Given the description of an element on the screen output the (x, y) to click on. 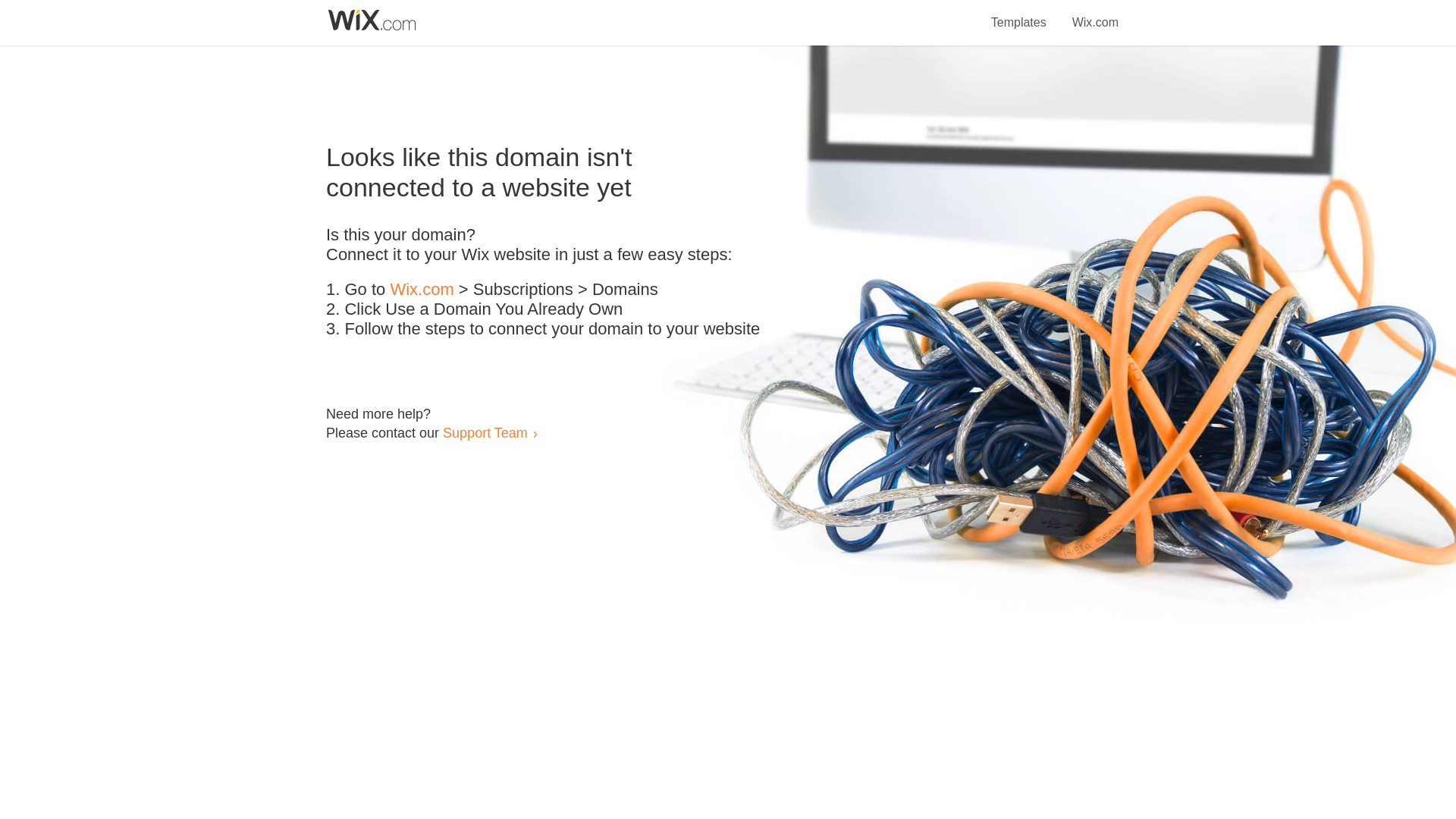
Templates (1018, 14)
Support Team (484, 432)
Wix.com (421, 289)
Wix.com (1095, 14)
